Given the description of an element on the screen output the (x, y) to click on. 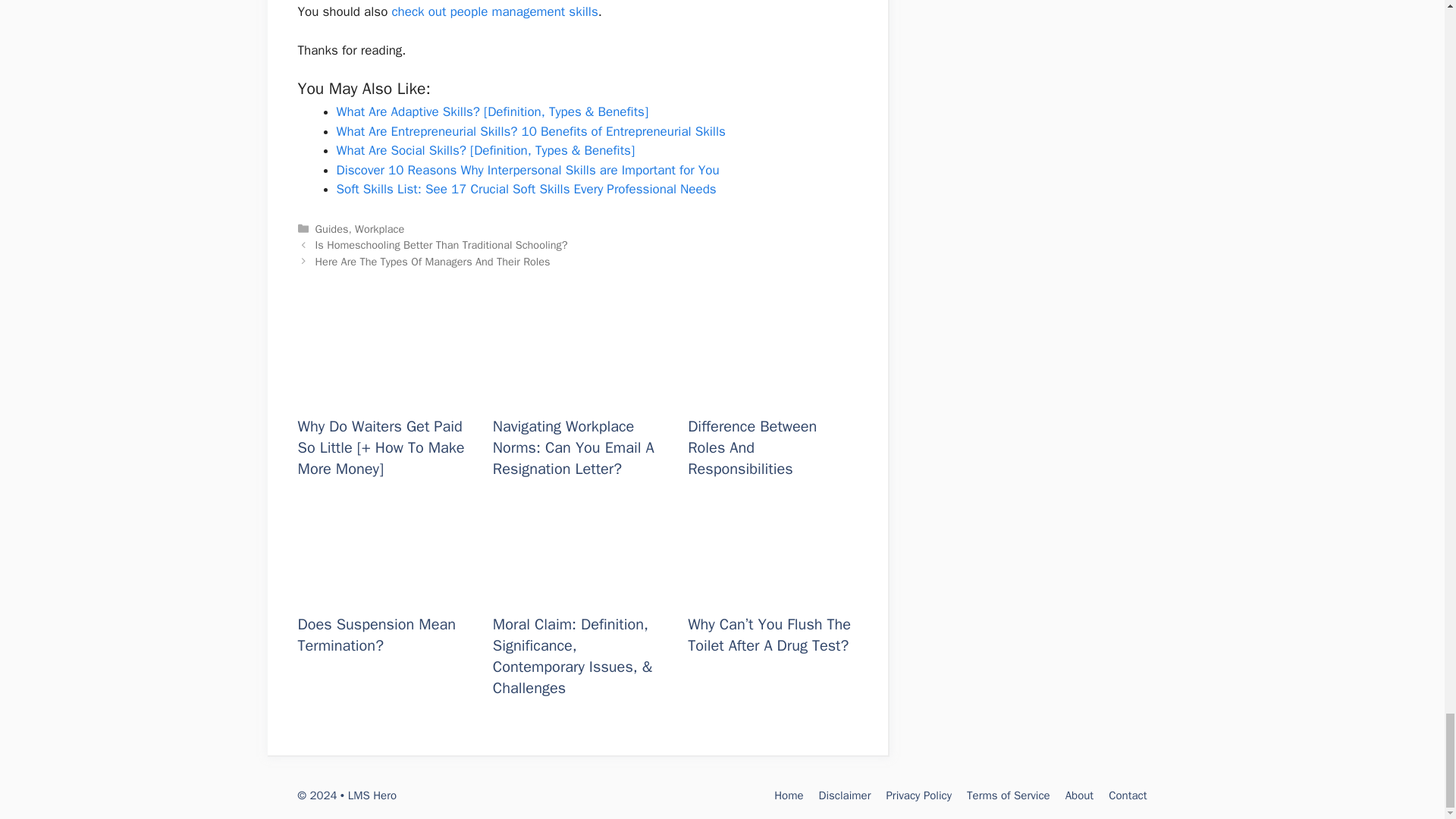
Guides (332, 228)
Workplace (379, 228)
Does Suspension Mean Termination? (381, 590)
Difference Between Roles And Responsibilities (772, 393)
Is Homeschooling Better Than Traditional Schooling? (441, 244)
Here Are The Types Of Managers And Their Roles (432, 261)
check out people management skills (493, 11)
